Given the description of an element on the screen output the (x, y) to click on. 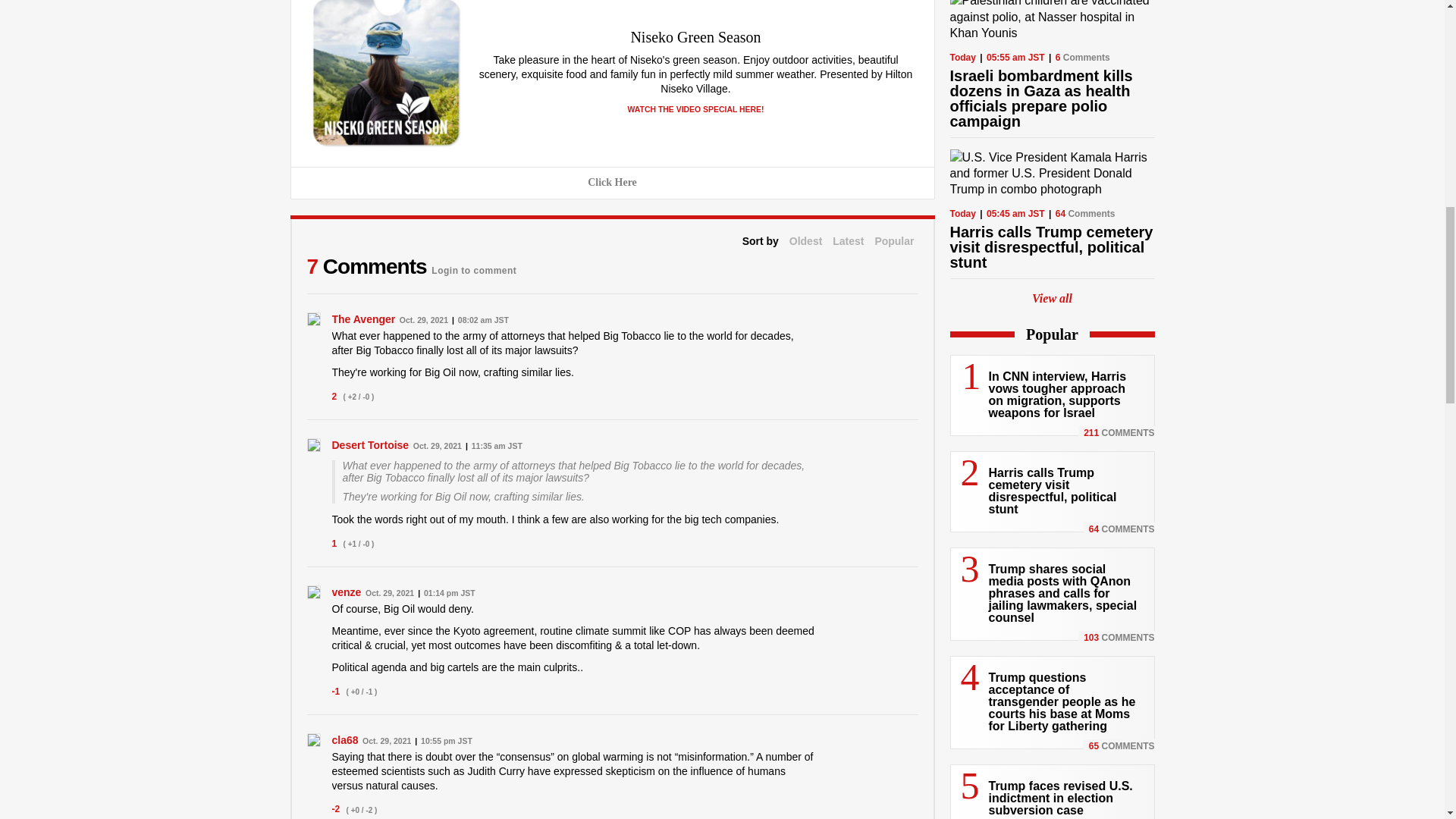
Login to comment (473, 266)
Popularity (894, 241)
Oldest (805, 241)
Latest (847, 241)
